Given the description of an element on the screen output the (x, y) to click on. 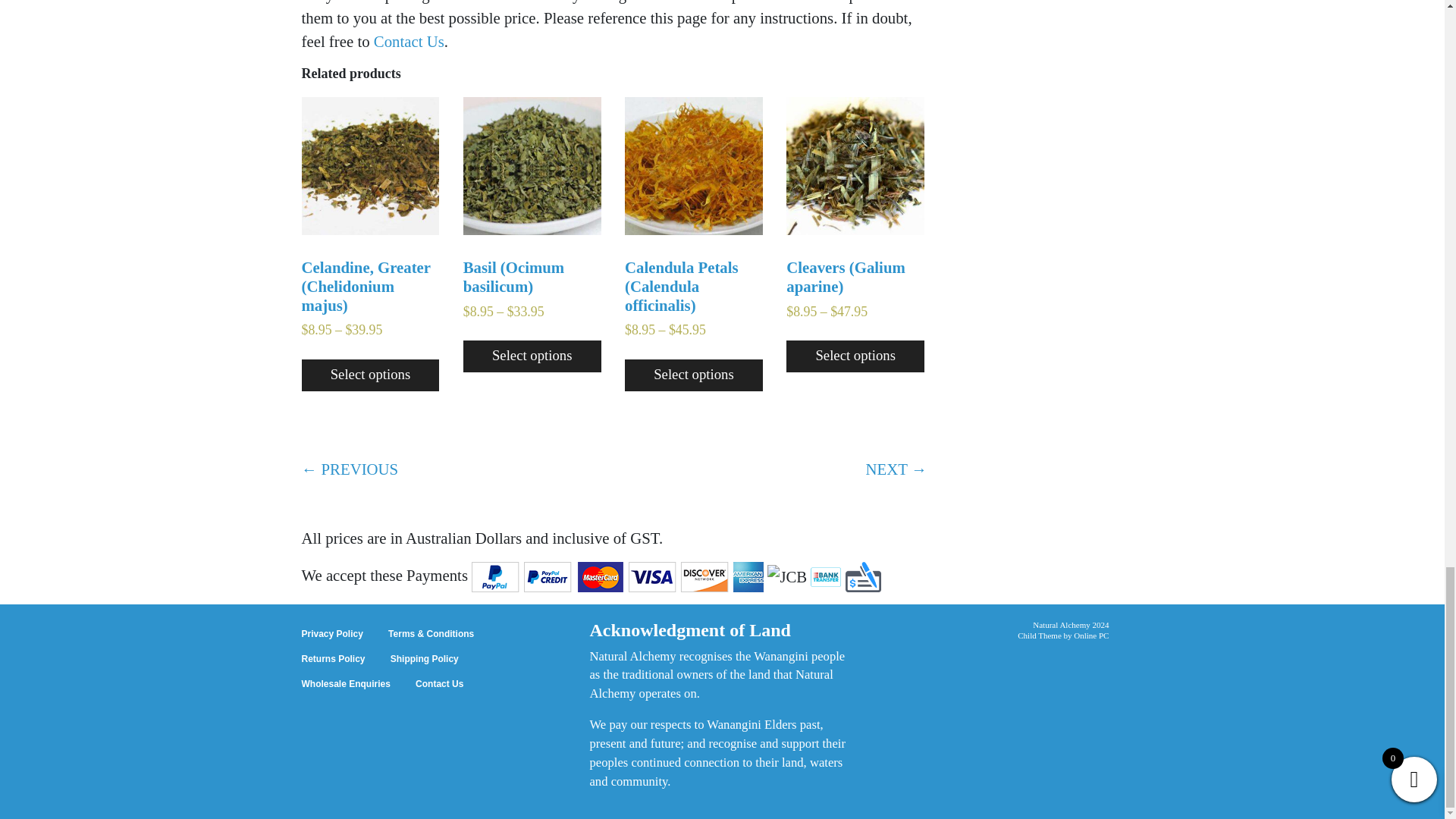
Select options (370, 375)
Select options (693, 375)
Select options (532, 356)
Contact Us (409, 40)
Cheque (862, 576)
Direct Deposit (825, 576)
